Given the description of an element on the screen output the (x, y) to click on. 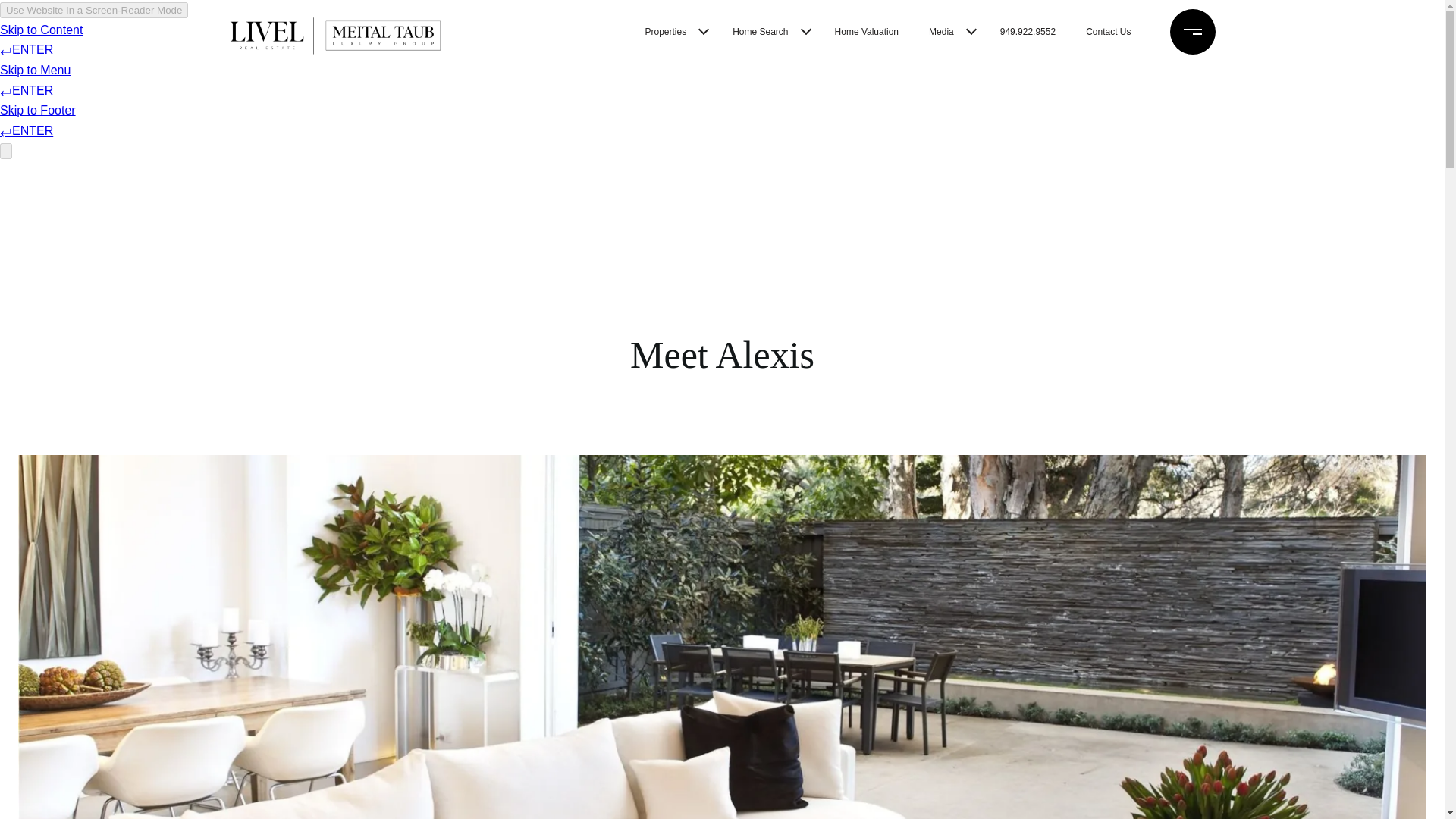
Properties (665, 31)
949.922.9552 (1027, 31)
Home Valuation (867, 31)
Home Search (759, 31)
Contact Us (1108, 31)
Media (940, 31)
